Given the description of an element on the screen output the (x, y) to click on. 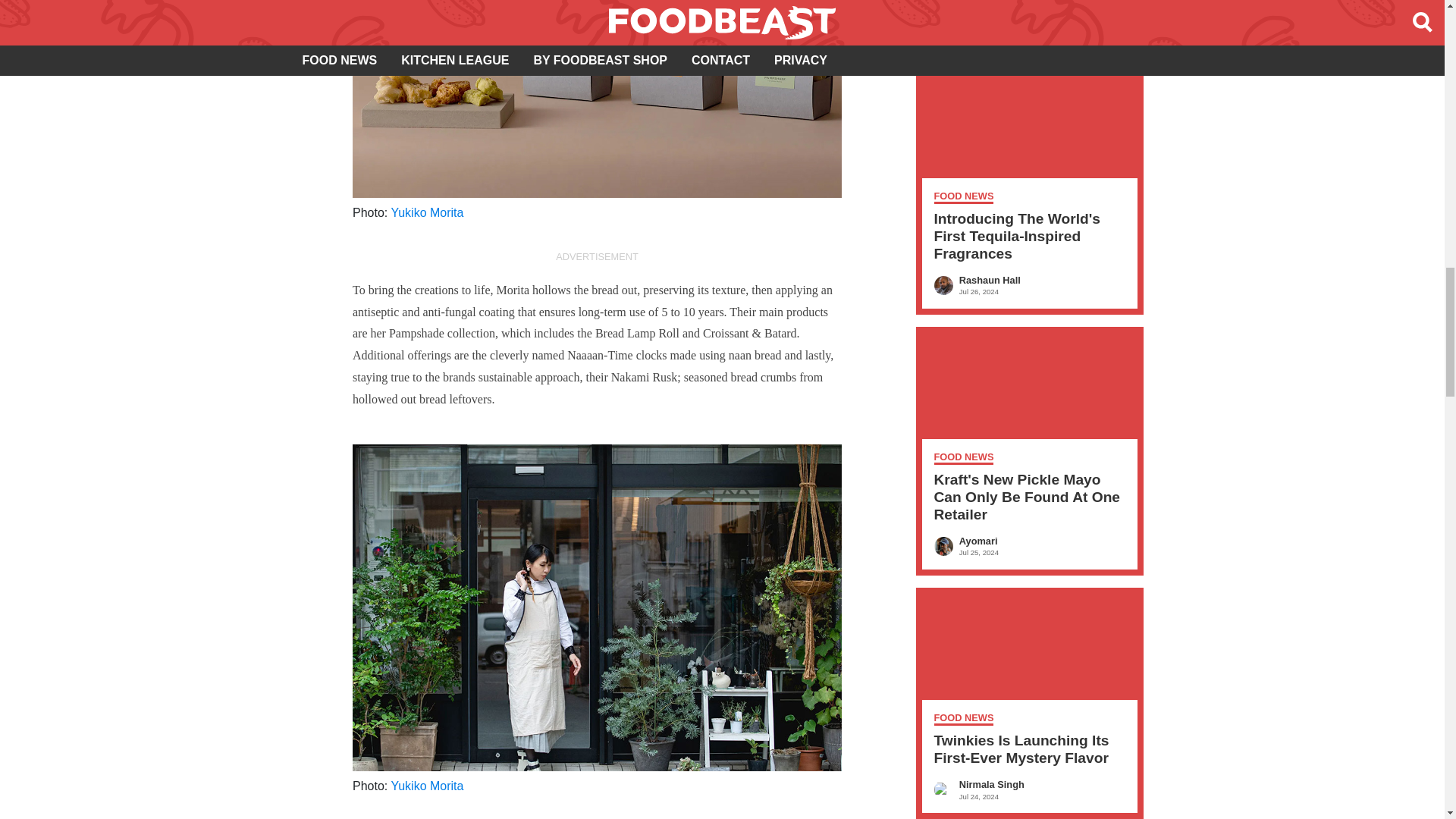
Yukiko Morita (426, 785)
Yukiko Morita (426, 212)
